Given the description of an element on the screen output the (x, y) to click on. 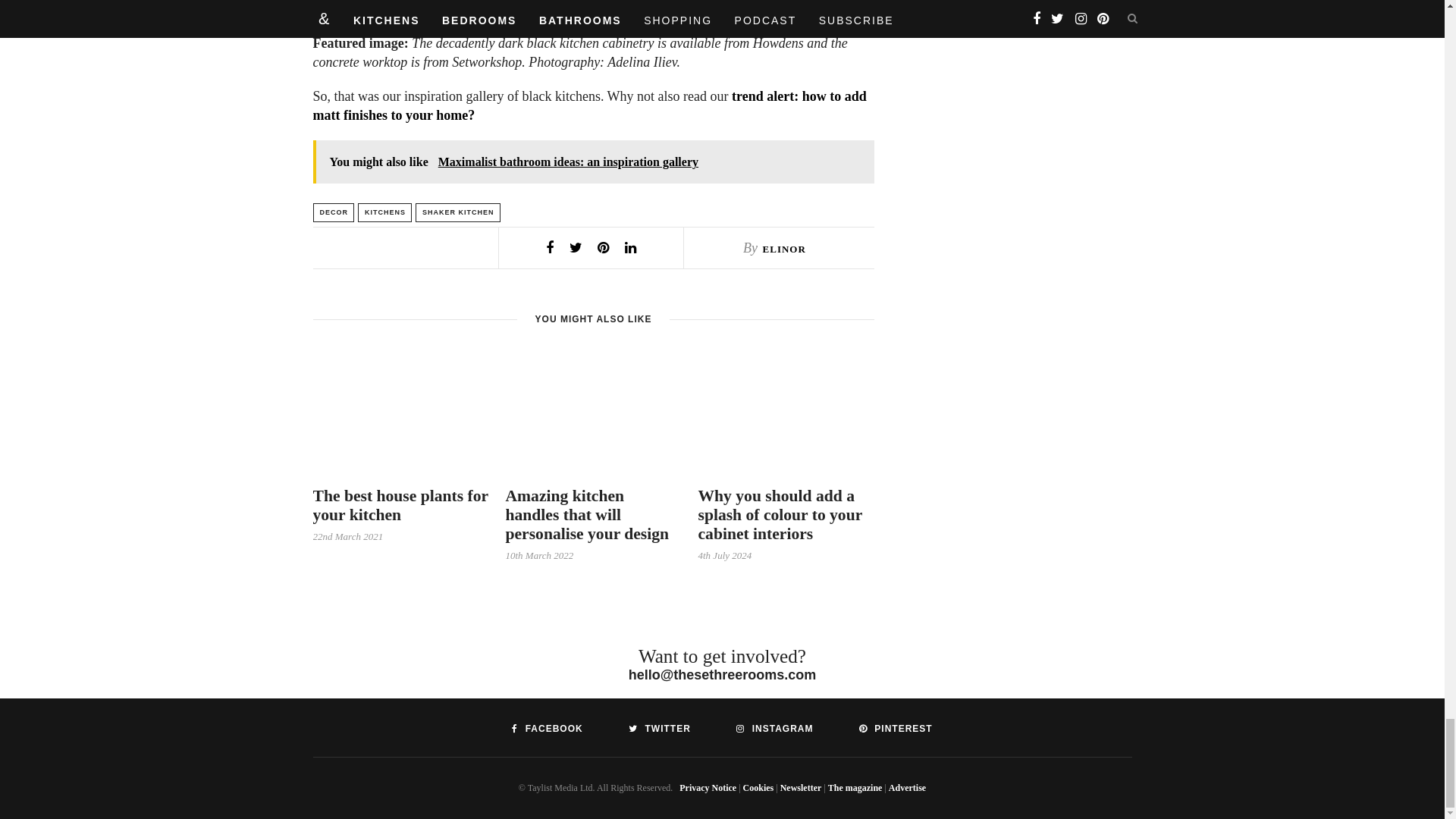
Posts by Elinor (784, 248)
trend alert: how to add matt finishes to your home? (589, 105)
